Given the description of an element on the screen output the (x, y) to click on. 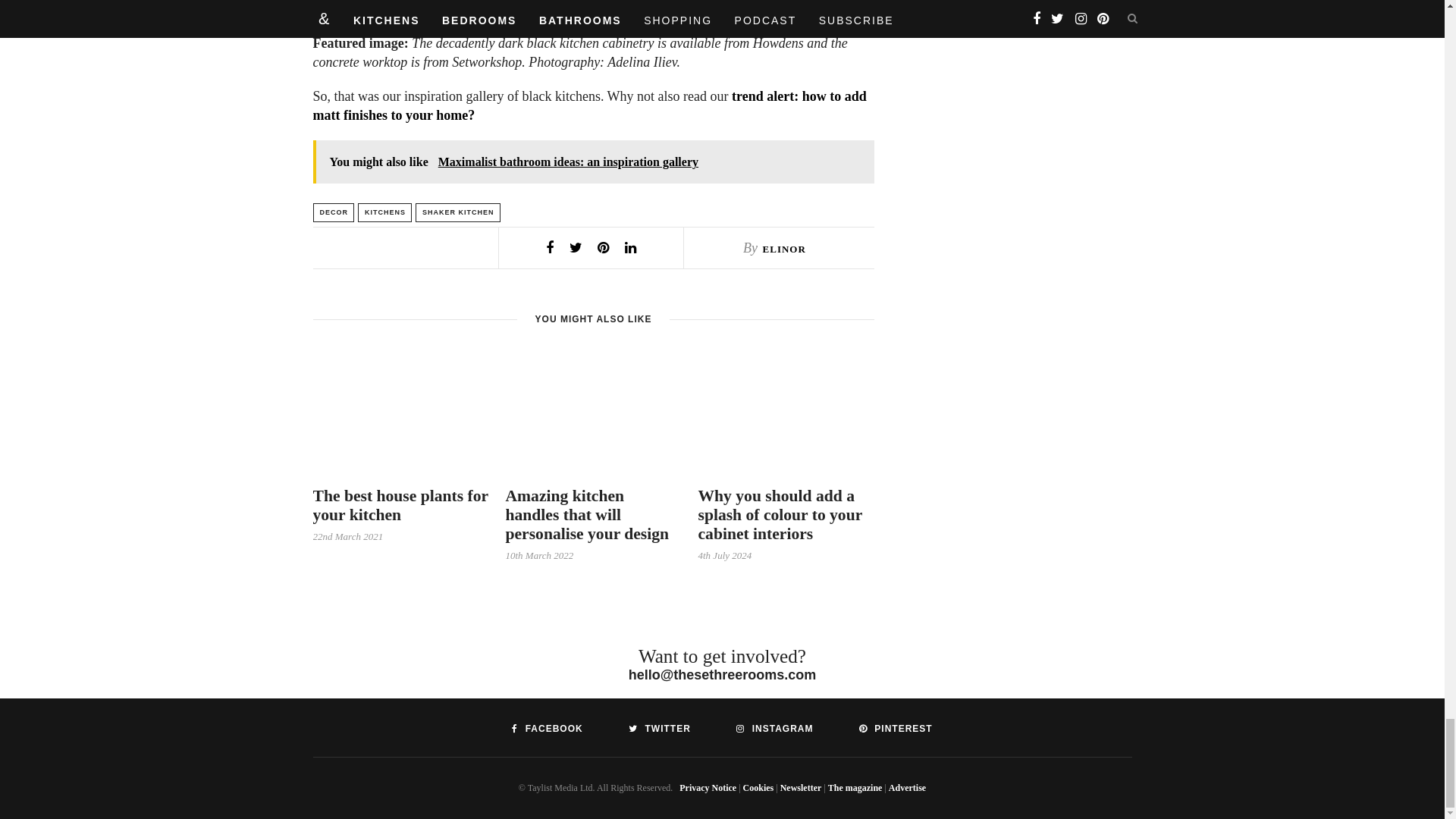
Posts by Elinor (784, 248)
trend alert: how to add matt finishes to your home? (589, 105)
